Given the description of an element on the screen output the (x, y) to click on. 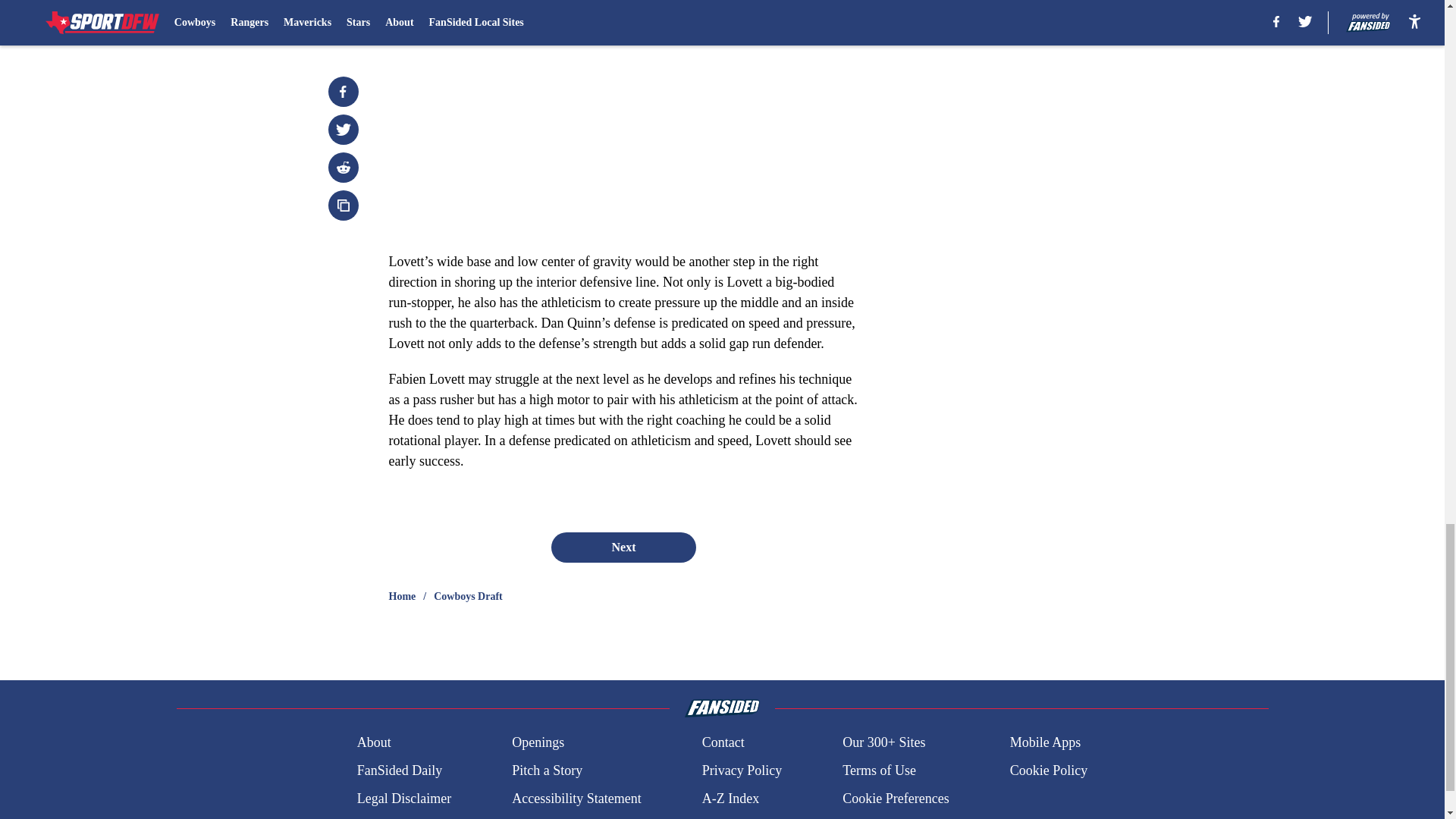
Legal Disclaimer (403, 798)
Next (622, 547)
Openings (538, 742)
Home (401, 596)
Accessibility Statement (576, 798)
About (373, 742)
Privacy Policy (742, 770)
Mobile Apps (1045, 742)
Contact (722, 742)
Terms of Use (879, 770)
